Given the description of an element on the screen output the (x, y) to click on. 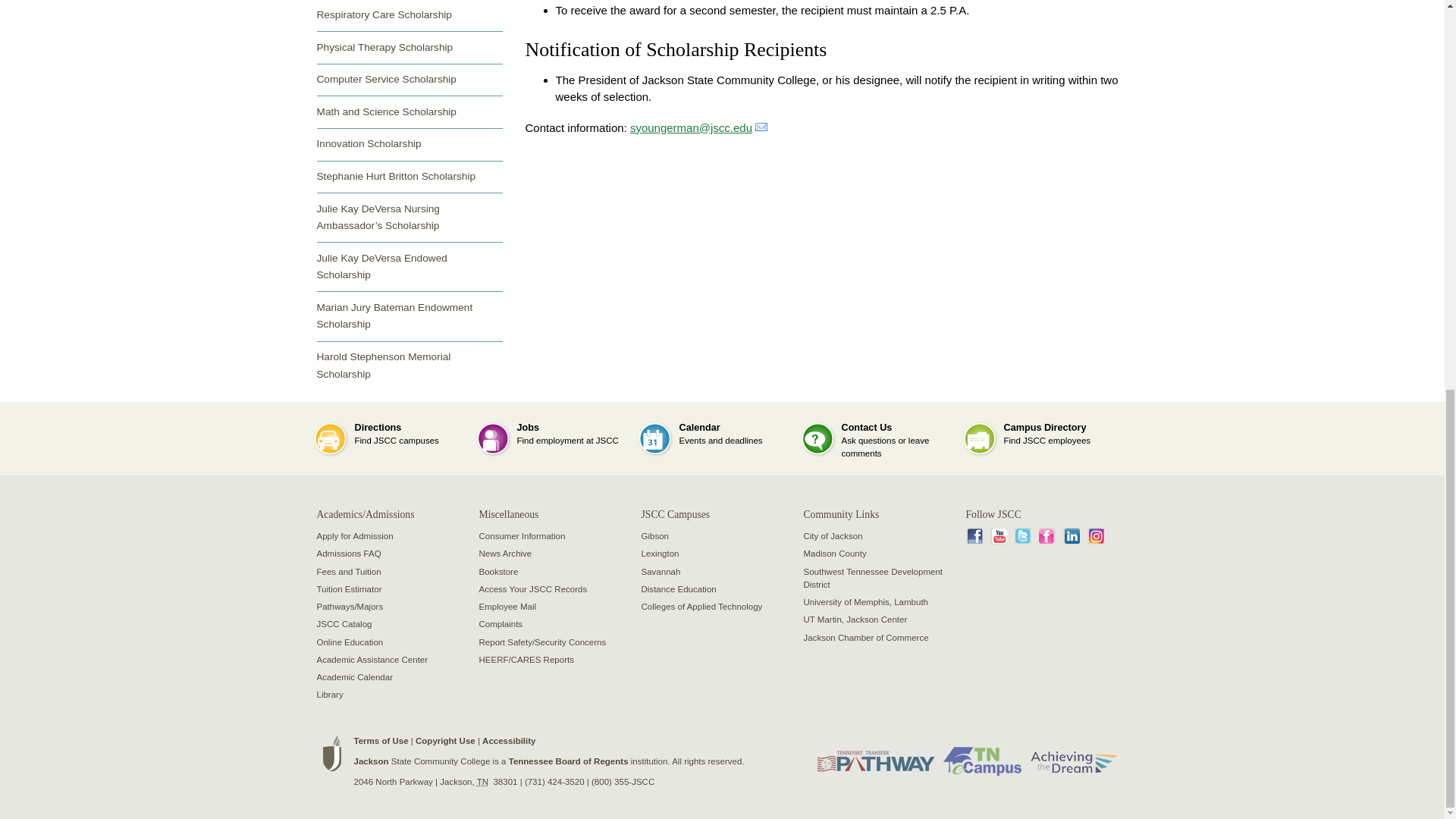
JSCC Youtube (998, 536)
Tennessee Transfer Pathways (875, 760)
Achieving the Dream (1072, 761)
JSCC Instagram (1095, 536)
JSCC Linkedin (1071, 536)
Tennessee (482, 781)
JSCC Twitter (1022, 536)
JSCC Flickr (1047, 536)
TN eCampus (982, 761)
JSCC Facebook (974, 536)
